Given the description of an element on the screen output the (x, y) to click on. 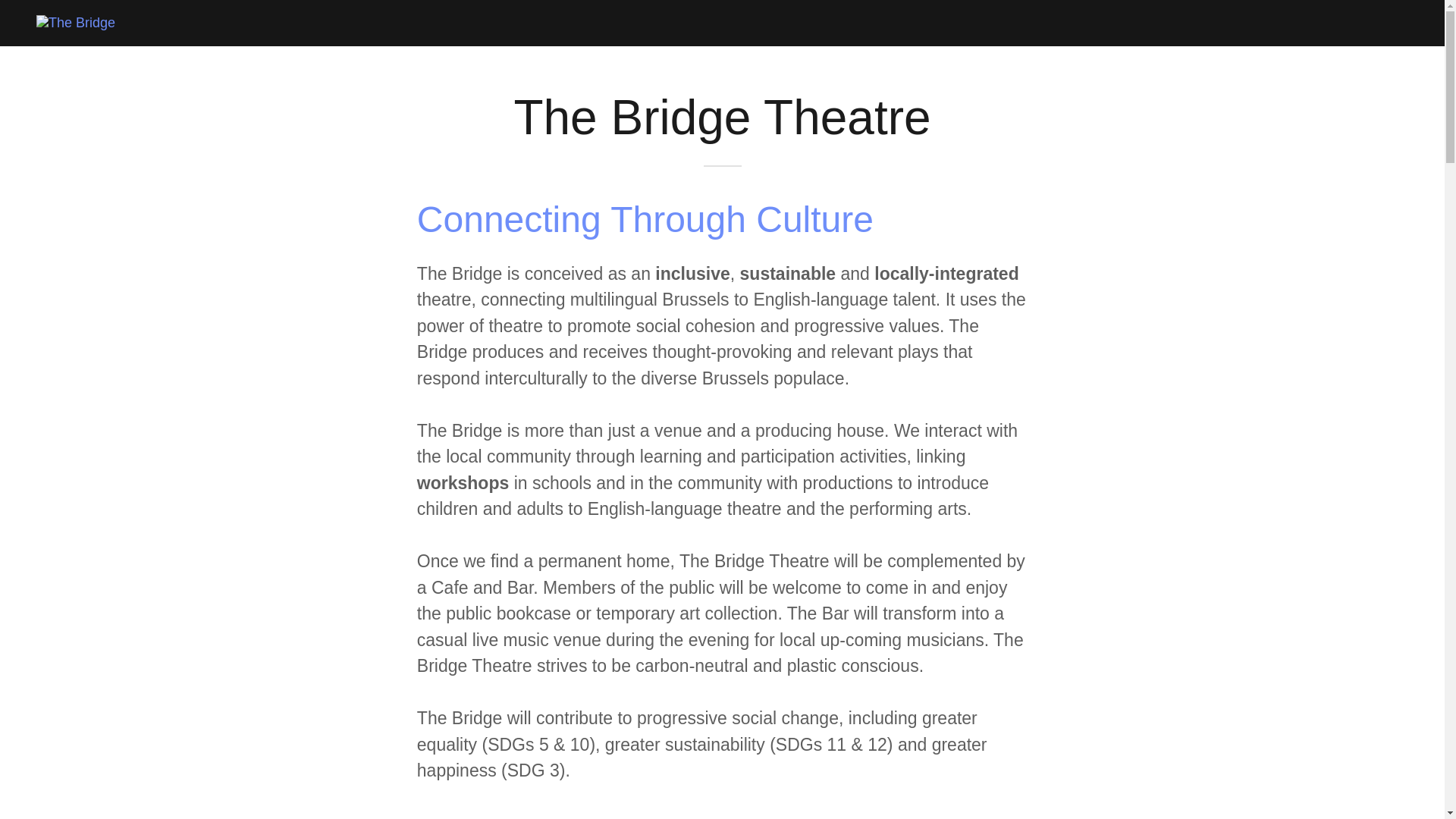
The Bridge Element type: hover (75, 22)
